Given the description of an element on the screen output the (x, y) to click on. 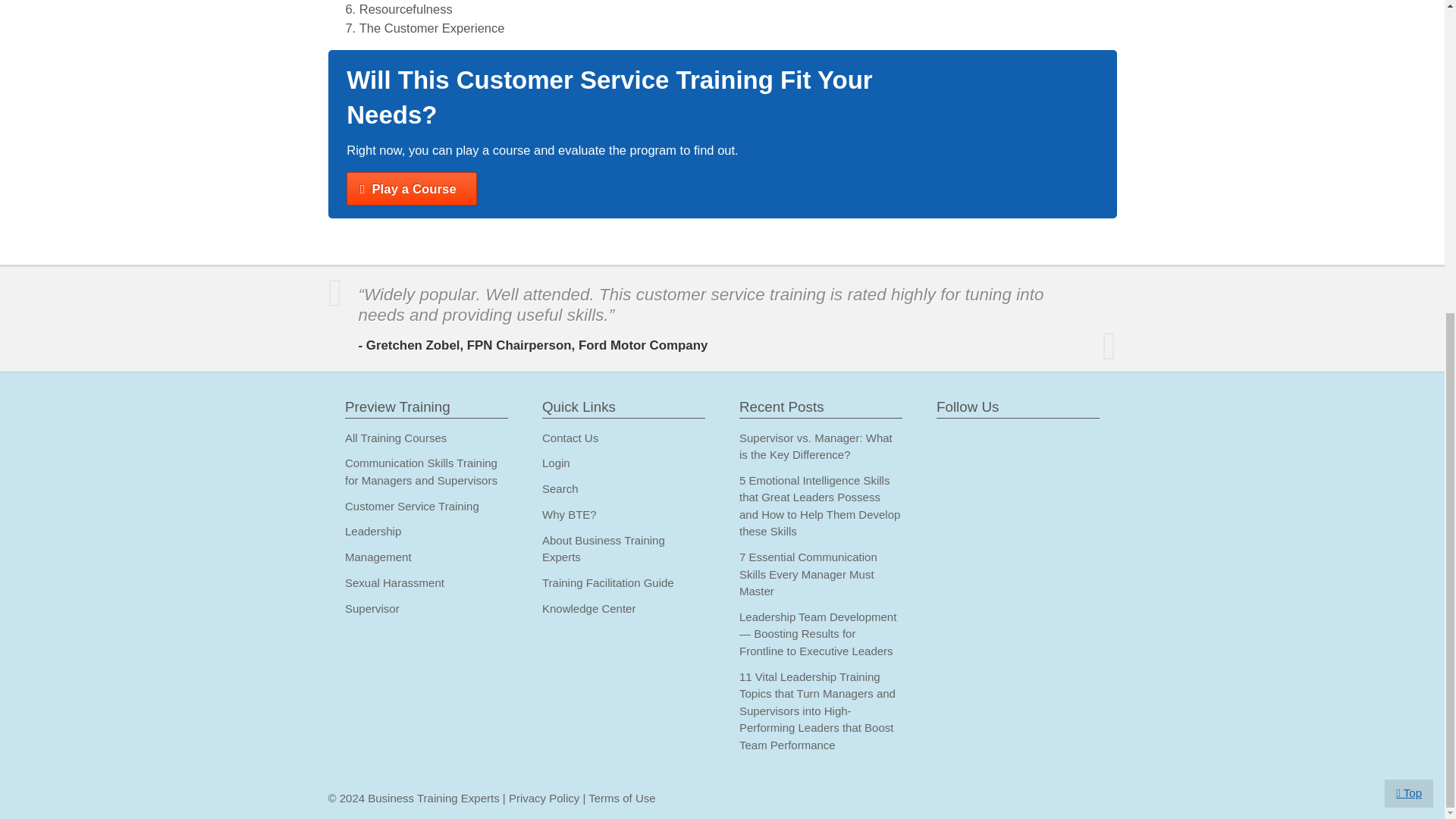
Privacy Policy (543, 797)
Customer Service Training (412, 505)
Why BTE? (568, 513)
All Training Courses (395, 437)
 Play a Course   (411, 188)
Contact Us (569, 437)
Sexual Harassment (394, 582)
Management (378, 556)
About Business Training Experts (603, 548)
Search (559, 488)
